Given the description of an element on the screen output the (x, y) to click on. 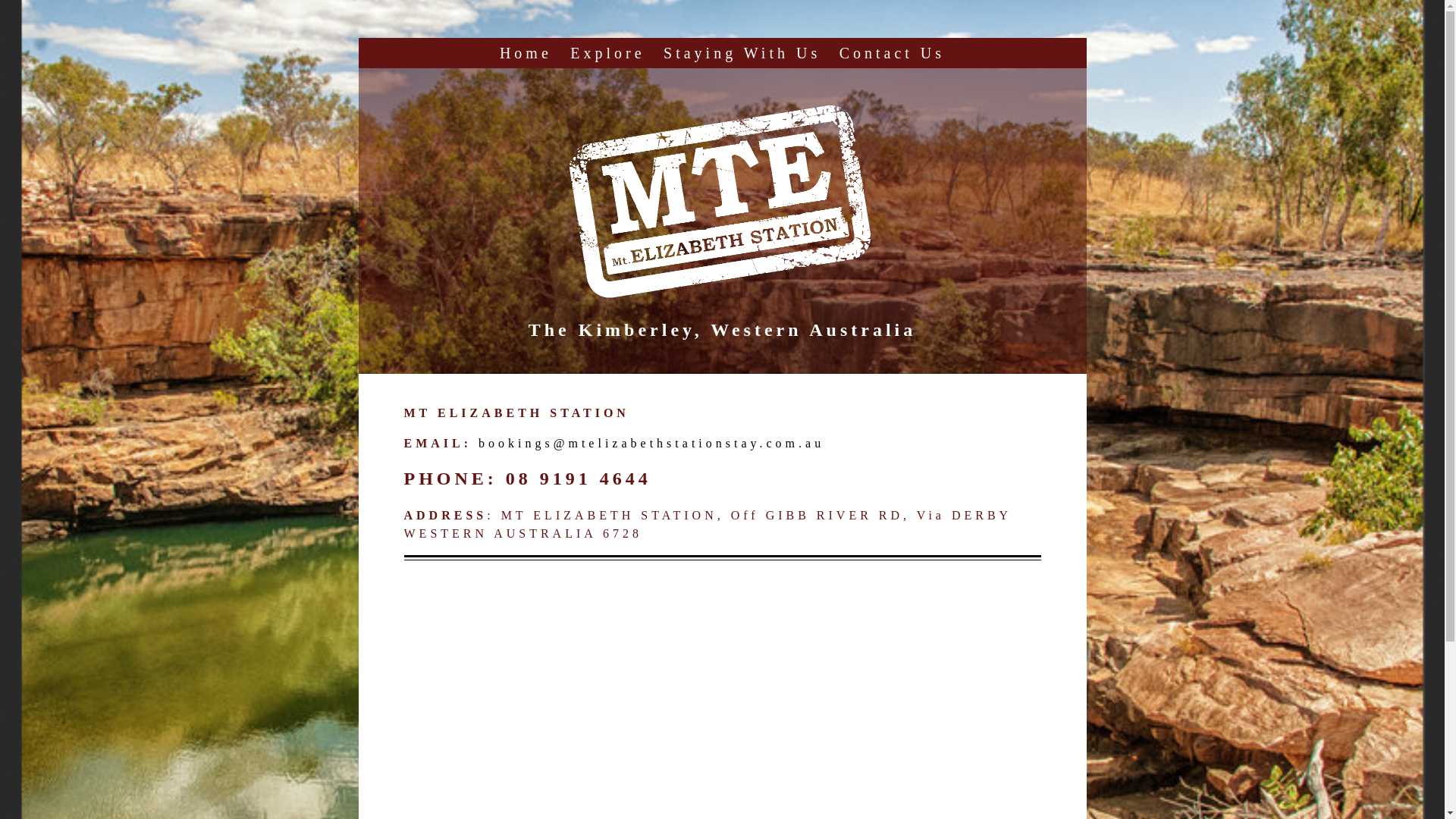
Staying With Us Element type: text (741, 52)
Explore Element type: text (607, 52)
Home Element type: text (525, 52)
Contact Us Element type: text (891, 52)
bookings@mtelizabethstationstay.com.au Element type: text (651, 442)
